Given the description of an element on the screen output the (x, y) to click on. 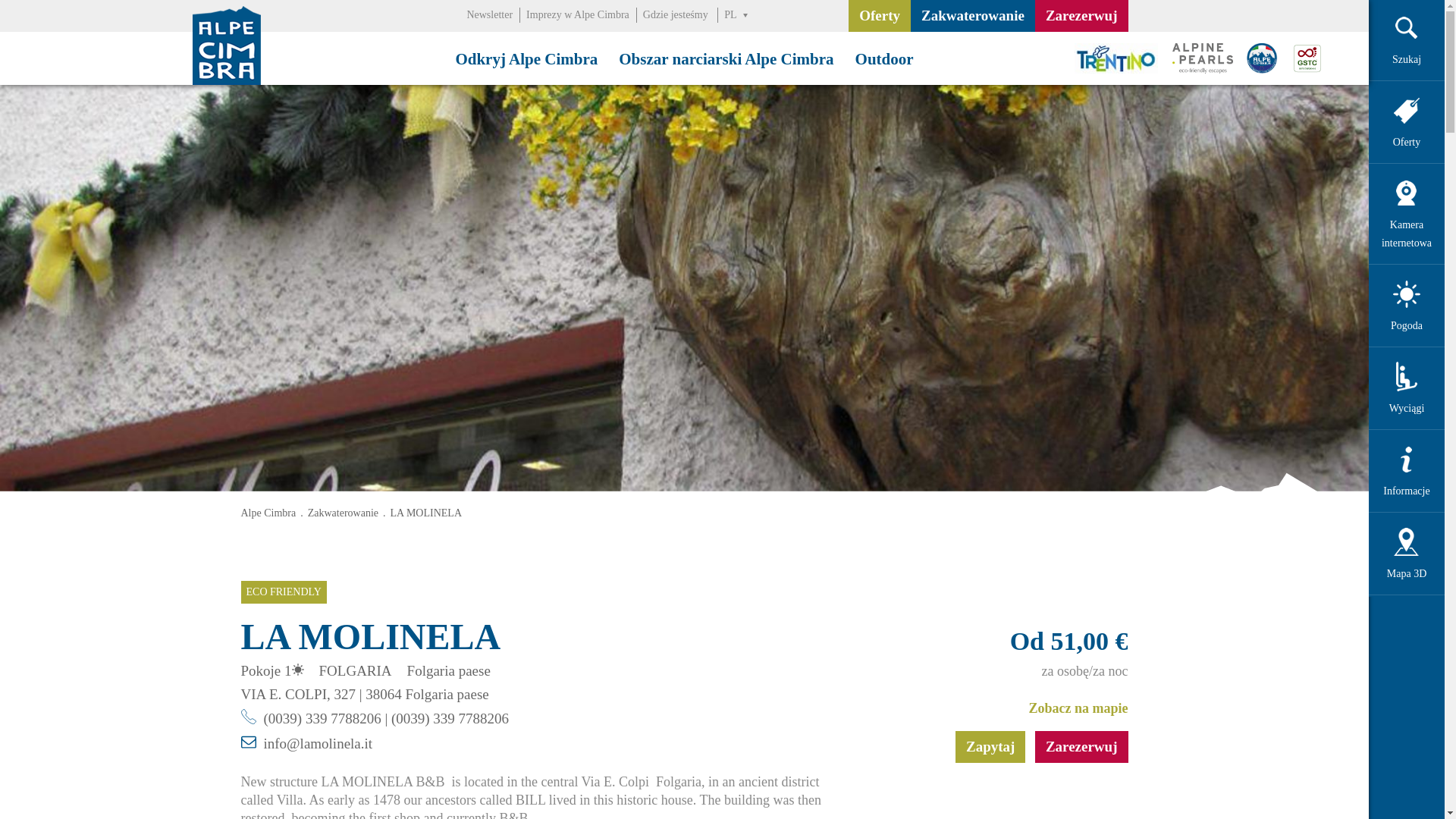
Imprezy w Alpe Cimbra (576, 14)
Newsletter (488, 14)
Newsletter (488, 14)
Odkryj Alpe Cimbra (525, 58)
Zarezerwuj (1081, 15)
Imprezy w Alpe Cimbra (576, 14)
Oferty (1406, 110)
Zakwaterowanie (973, 15)
Zakwaterowanie (973, 15)
Kamera internetowa (1406, 193)
PL (733, 14)
Oferty (879, 15)
Zarezerwuj (1081, 15)
Szukaj (1406, 28)
Obszar narciarski Alpe Cimbra (725, 58)
